Given the description of an element on the screen output the (x, y) to click on. 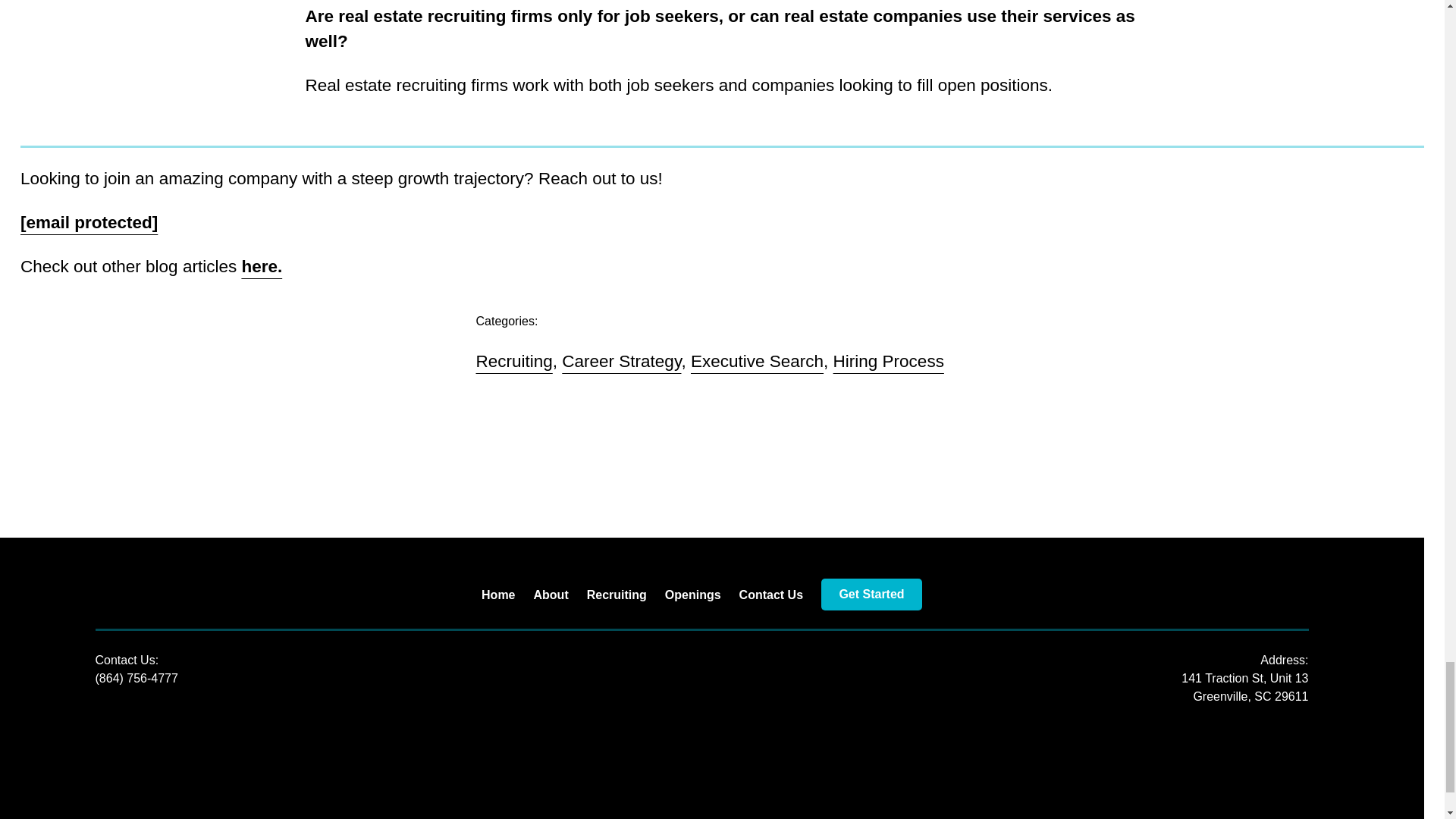
Recruiting (616, 594)
About (551, 594)
Recruiting (514, 361)
Get Started (871, 593)
here. (261, 266)
Executive Search (757, 361)
Openings (692, 594)
Career Strategy (621, 361)
Hiring Process (887, 361)
Contact Us (771, 594)
